Given the description of an element on the screen output the (x, y) to click on. 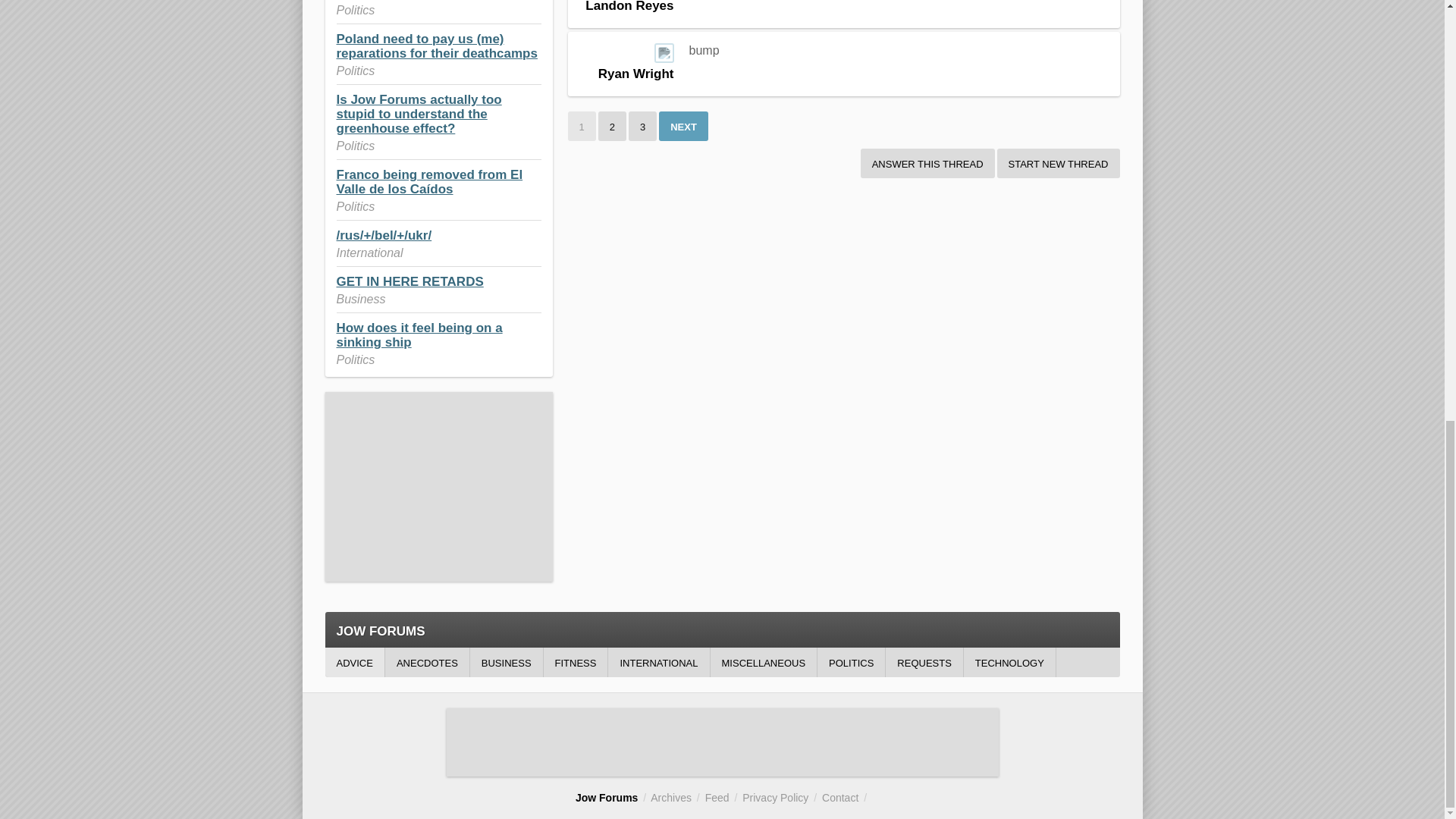
3 (642, 125)
ANSWER THIS THREAD (927, 163)
NEXT (683, 125)
START NEW THREAD (1058, 163)
GET IN HERE RETARDS (409, 281)
2 (612, 125)
